Given the description of an element on the screen output the (x, y) to click on. 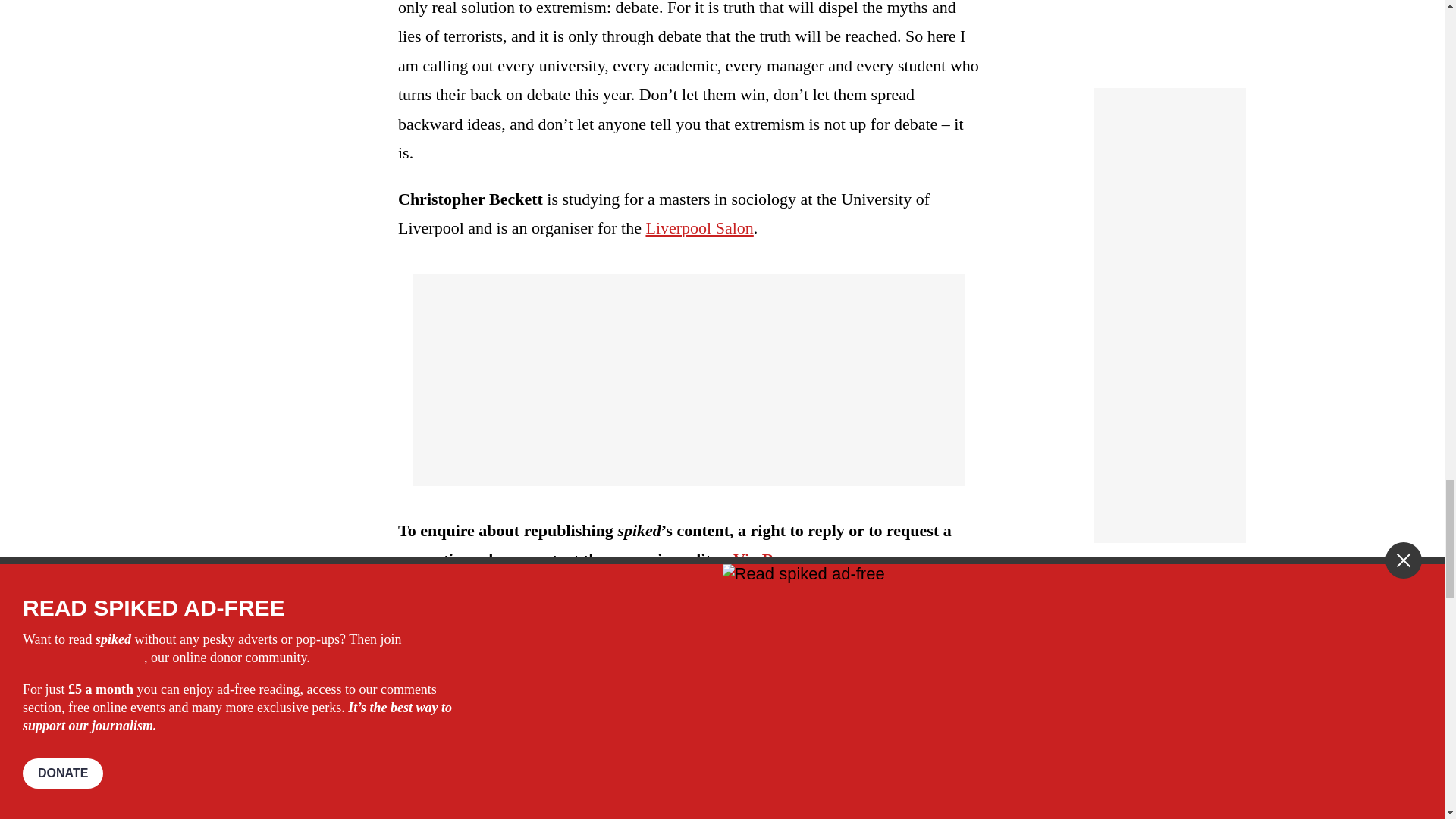
Share on Facebook (448, 615)
Share on Twitter (471, 615)
Share on Whatsapp (494, 615)
Share on Email (518, 615)
